Given the description of an element on the screen output the (x, y) to click on. 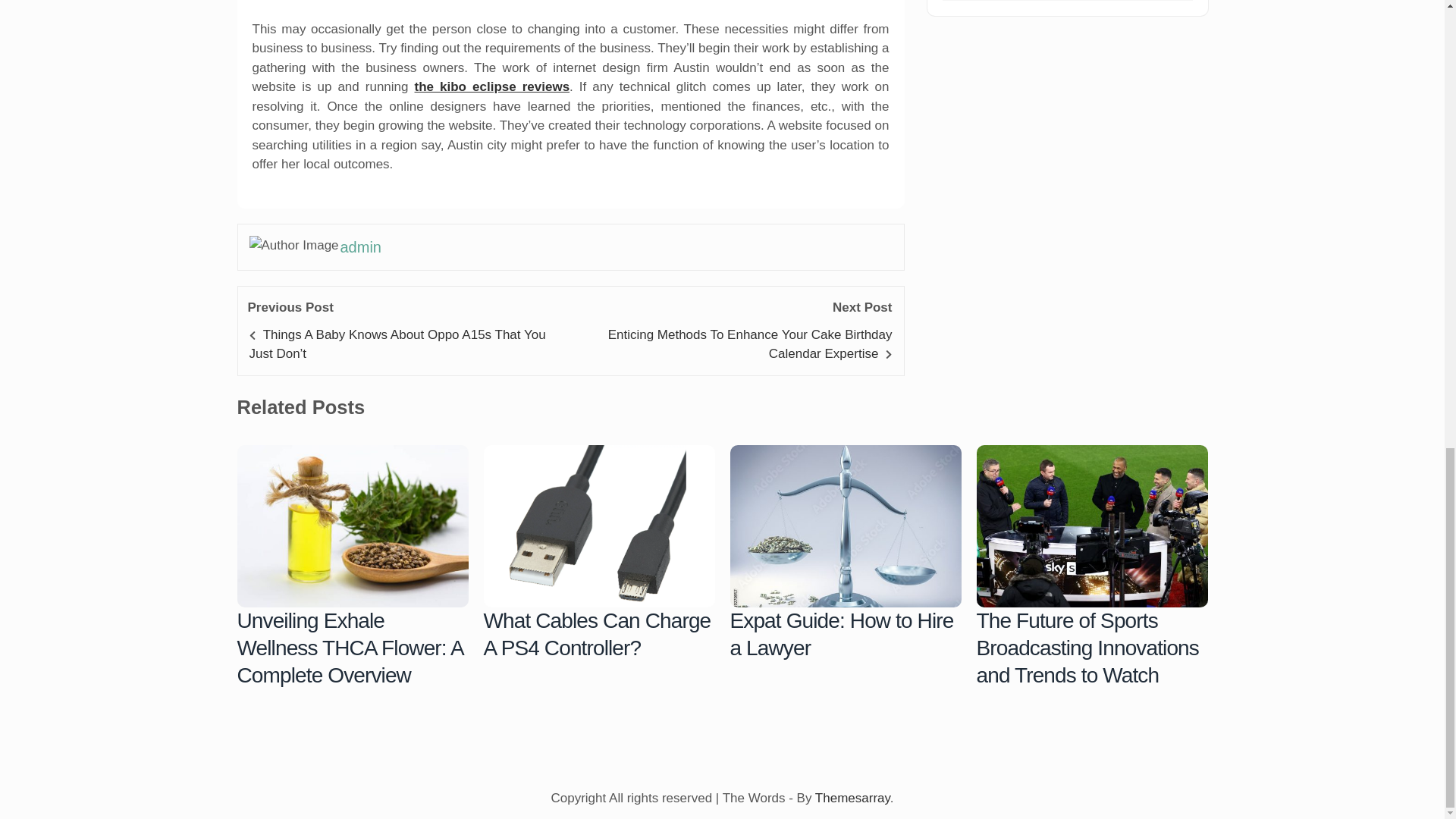
Unveiling Exhale Wellness THCA Flower: A Complete Overview (351, 526)
Author Image (293, 245)
What Cables Can Charge A PS4 Controller? (598, 526)
Expat Guide: How to Hire a Lawyer (844, 526)
the kibo eclipse reviews (492, 86)
